Given the description of an element on the screen output the (x, y) to click on. 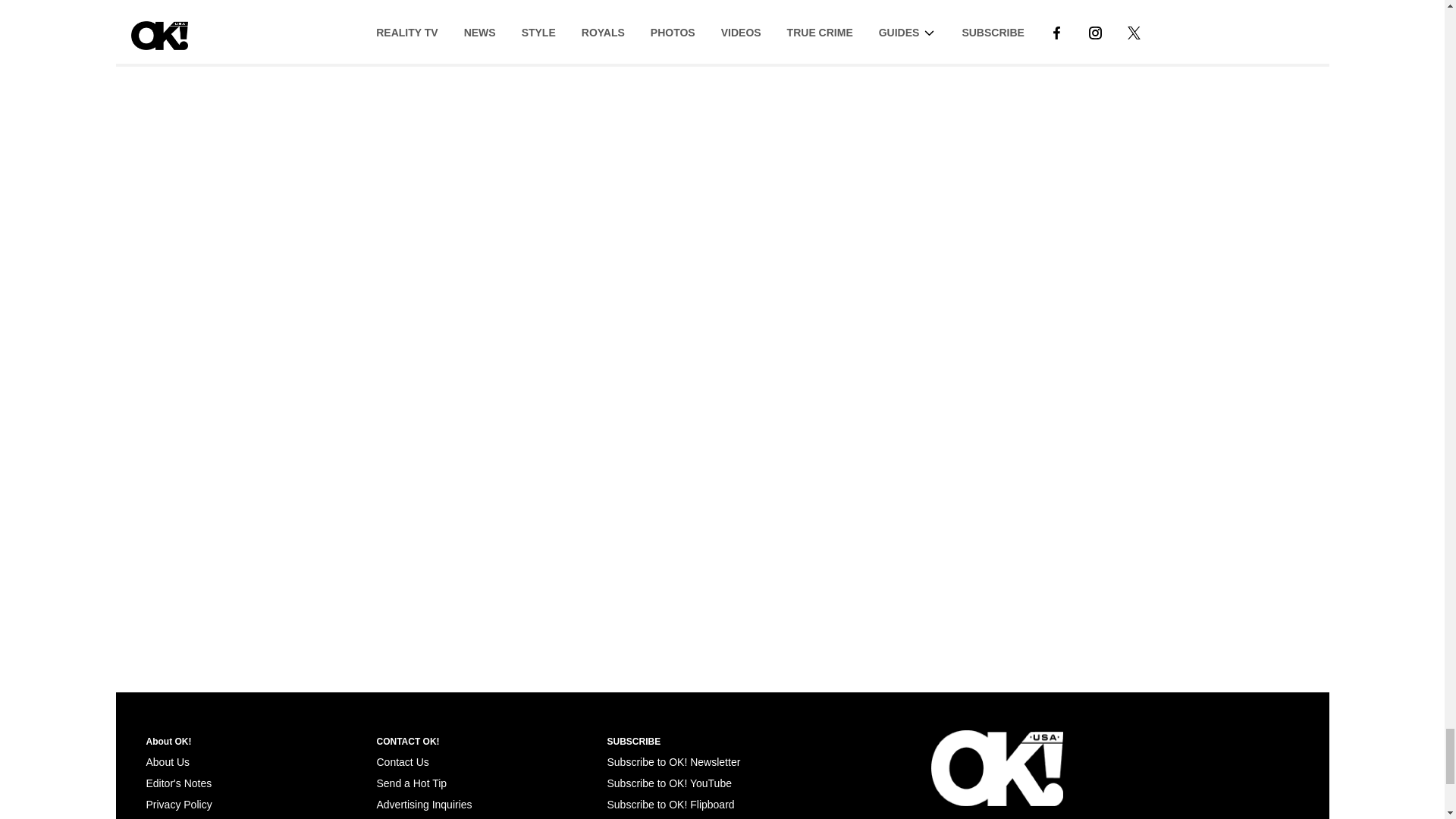
Send a Hot Tip (410, 783)
Contact Us (401, 761)
Editor's Notes (178, 783)
Privacy Policy (178, 804)
About Us (167, 761)
